Given the description of an element on the screen output the (x, y) to click on. 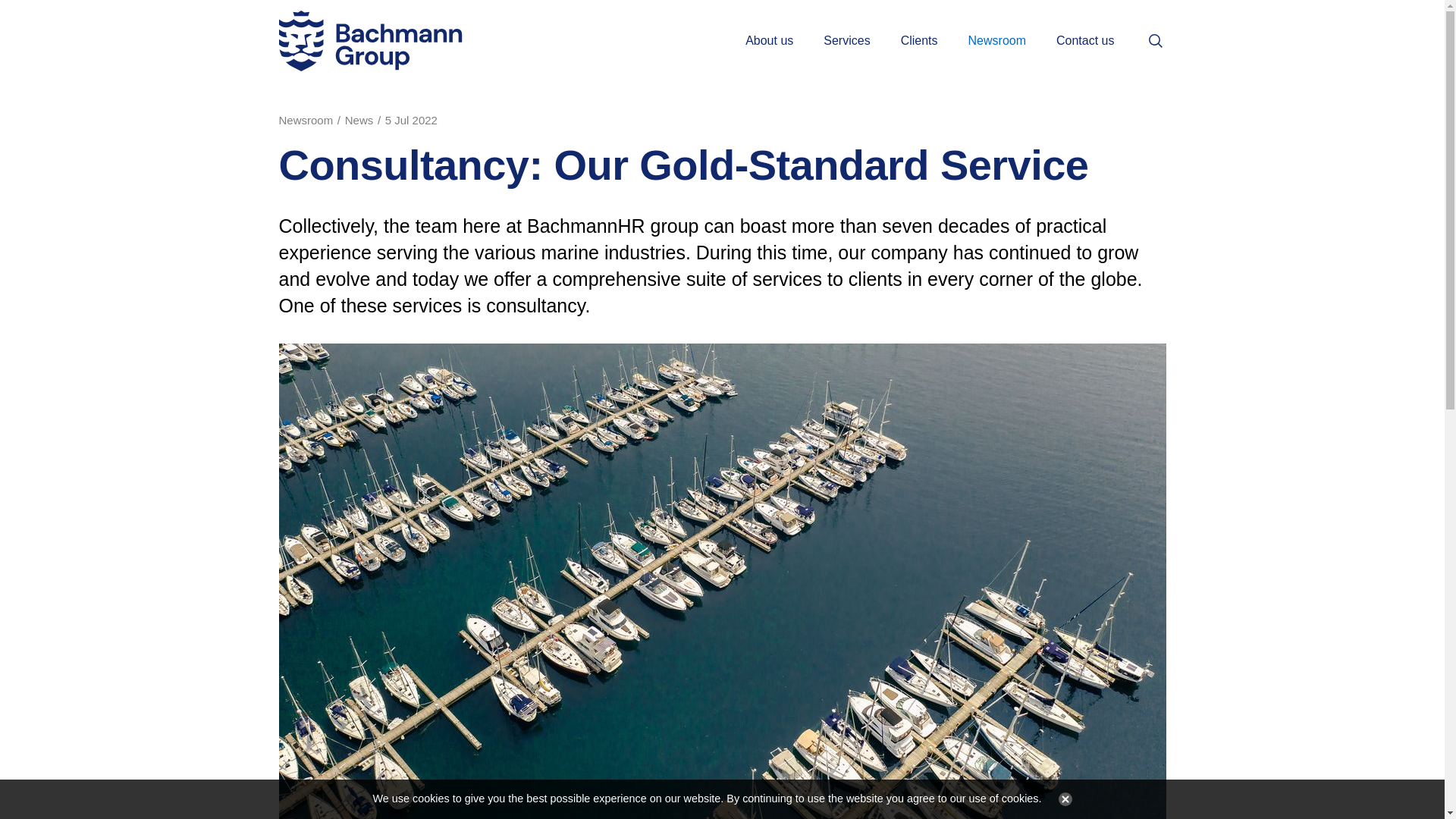
Services (846, 40)
About us (769, 40)
Continue (1061, 799)
